Given the description of an element on the screen output the (x, y) to click on. 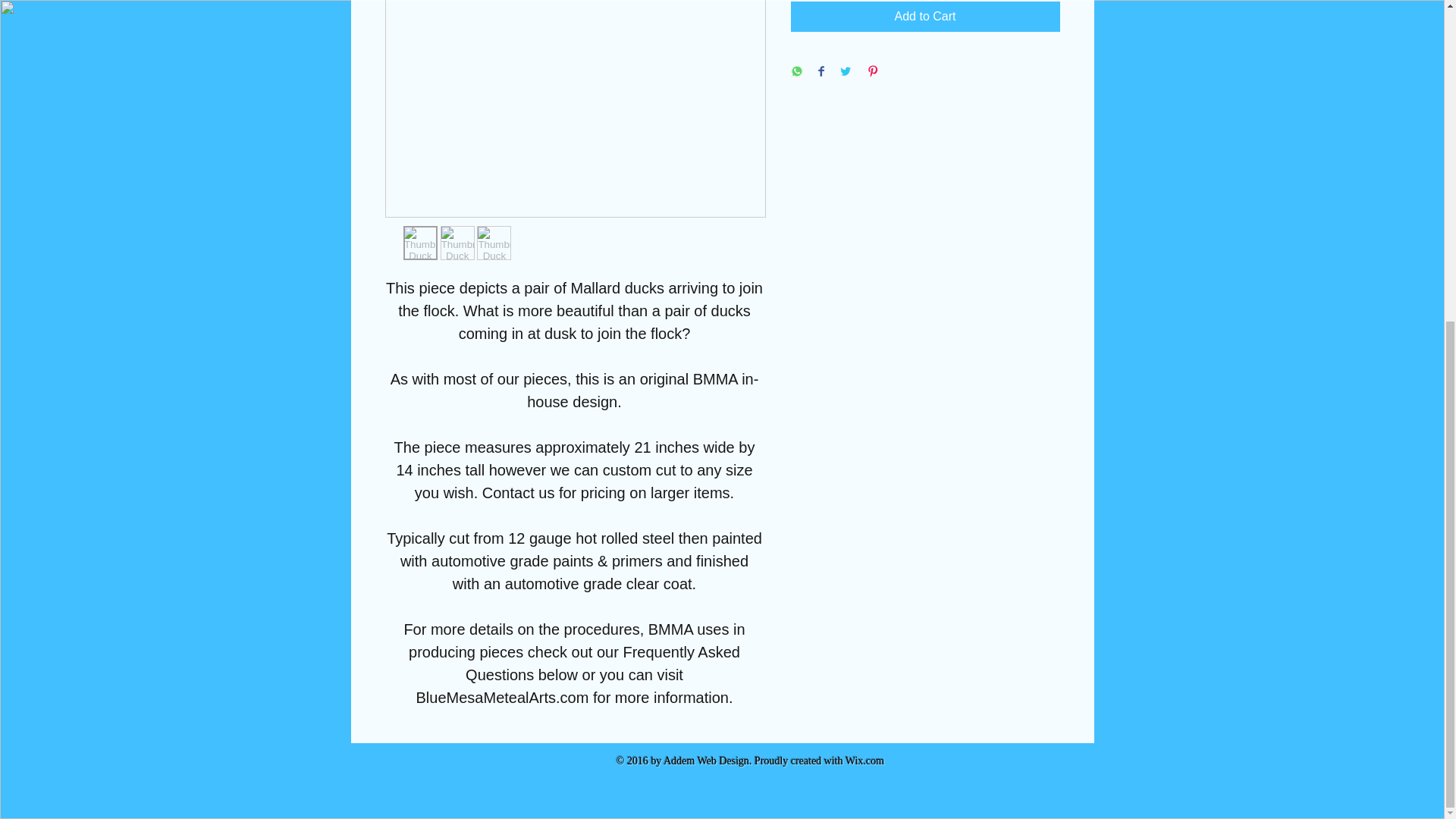
Wix.com (864, 760)
Add to Cart (924, 16)
